Given the description of an element on the screen output the (x, y) to click on. 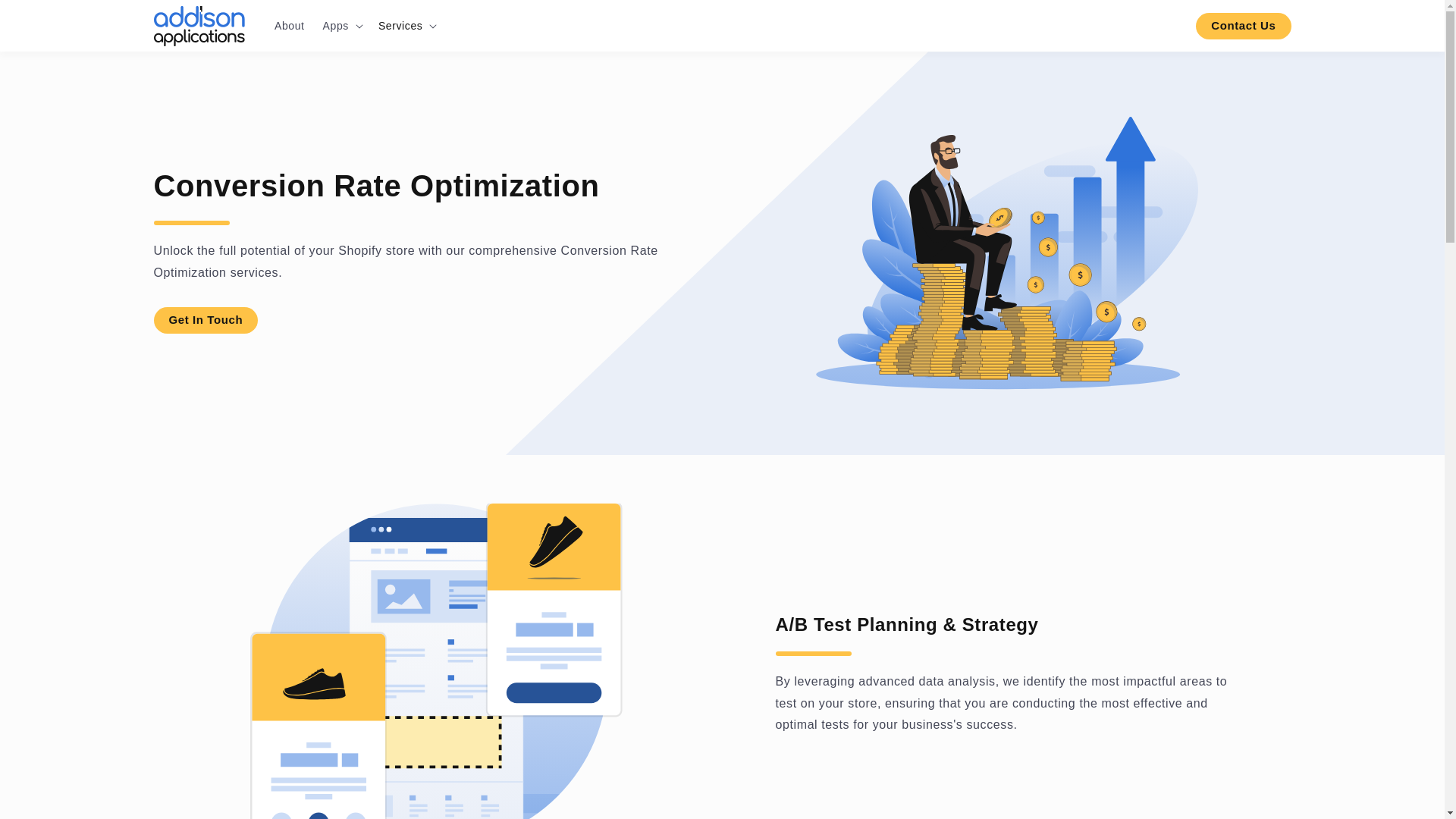
Get In Touch (204, 320)
Contact Us (1242, 26)
Skip to content (14, 12)
About (289, 25)
